Given the description of an element on the screen output the (x, y) to click on. 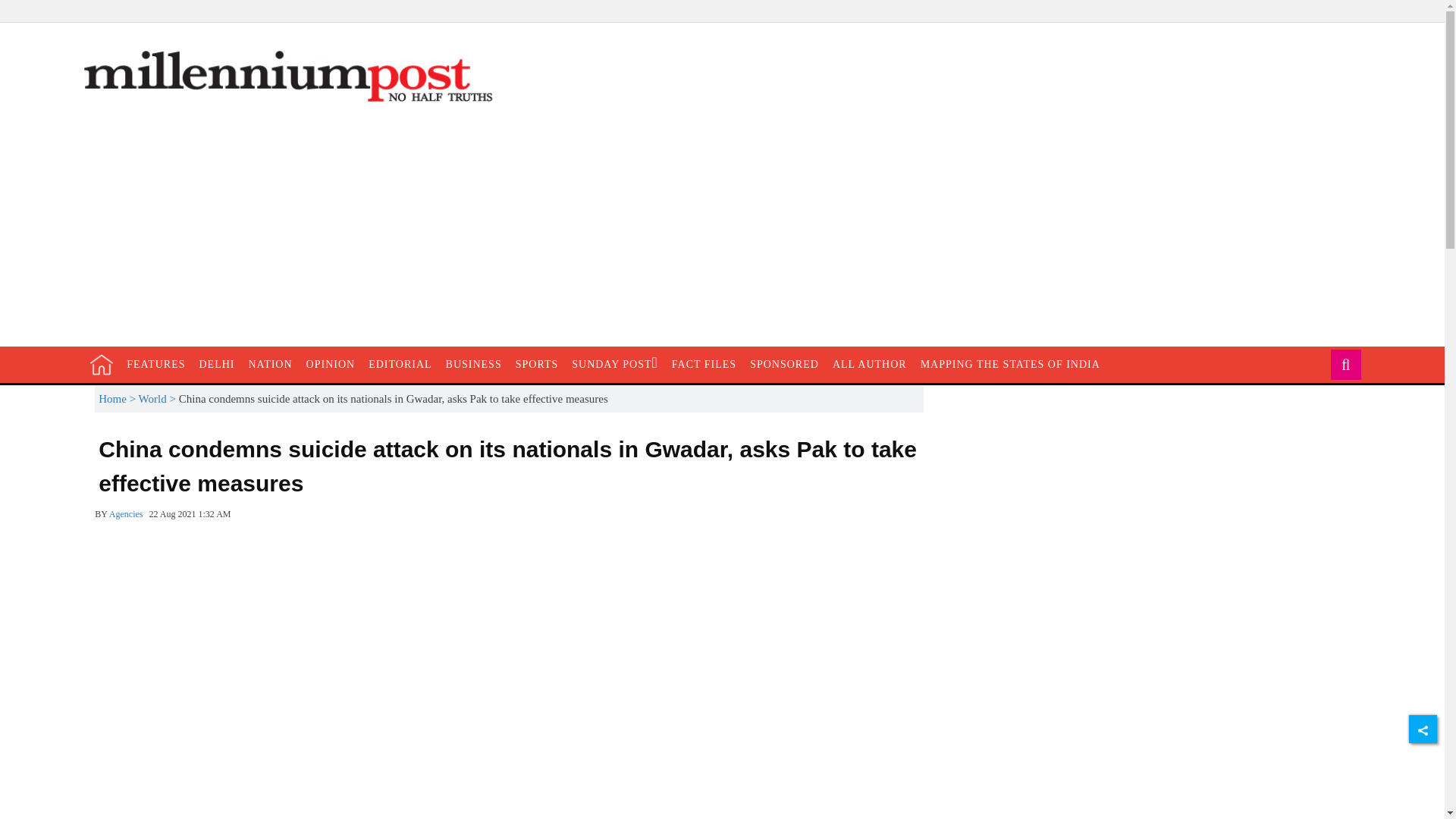
SPORTS (537, 364)
MAPPING THE STATES OF INDIA (1010, 364)
SUNDAY POST (614, 364)
BUSINESS (473, 364)
NATION (269, 364)
DELHI (330, 364)
FEATURES (216, 364)
SPONSORED (155, 364)
home (783, 364)
FACT FILES (101, 363)
ALL AUTHOR (703, 364)
MillenniumPost (869, 364)
